Given the description of an element on the screen output the (x, y) to click on. 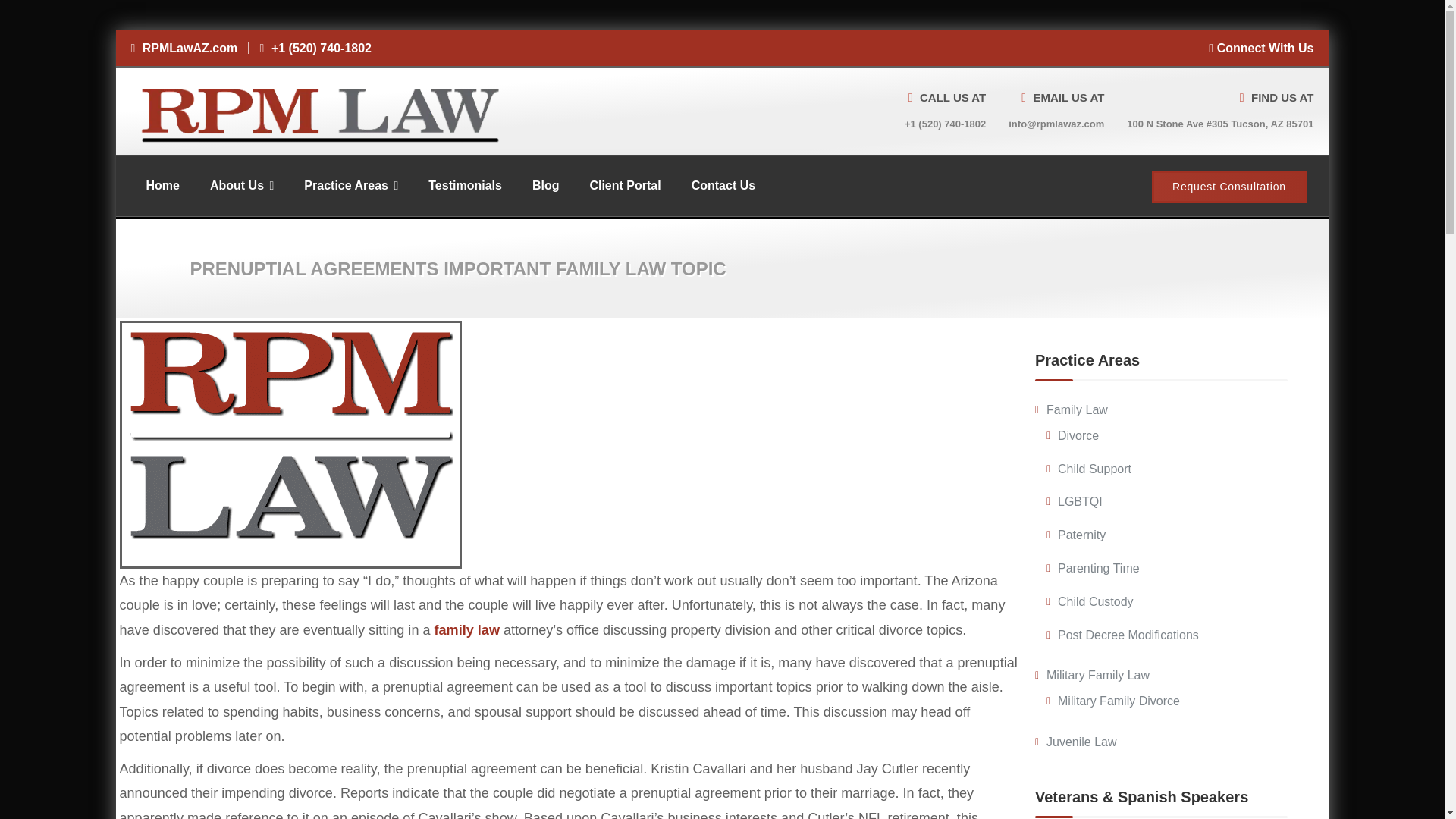
Practice Areas (350, 185)
Testimonials (464, 185)
Client Portal (624, 185)
Home (162, 185)
Practice Areas (350, 185)
About Us (241, 185)
About Us (241, 185)
 Connect With Us (1260, 47)
Connect With Us (1260, 47)
